Given the description of an element on the screen output the (x, y) to click on. 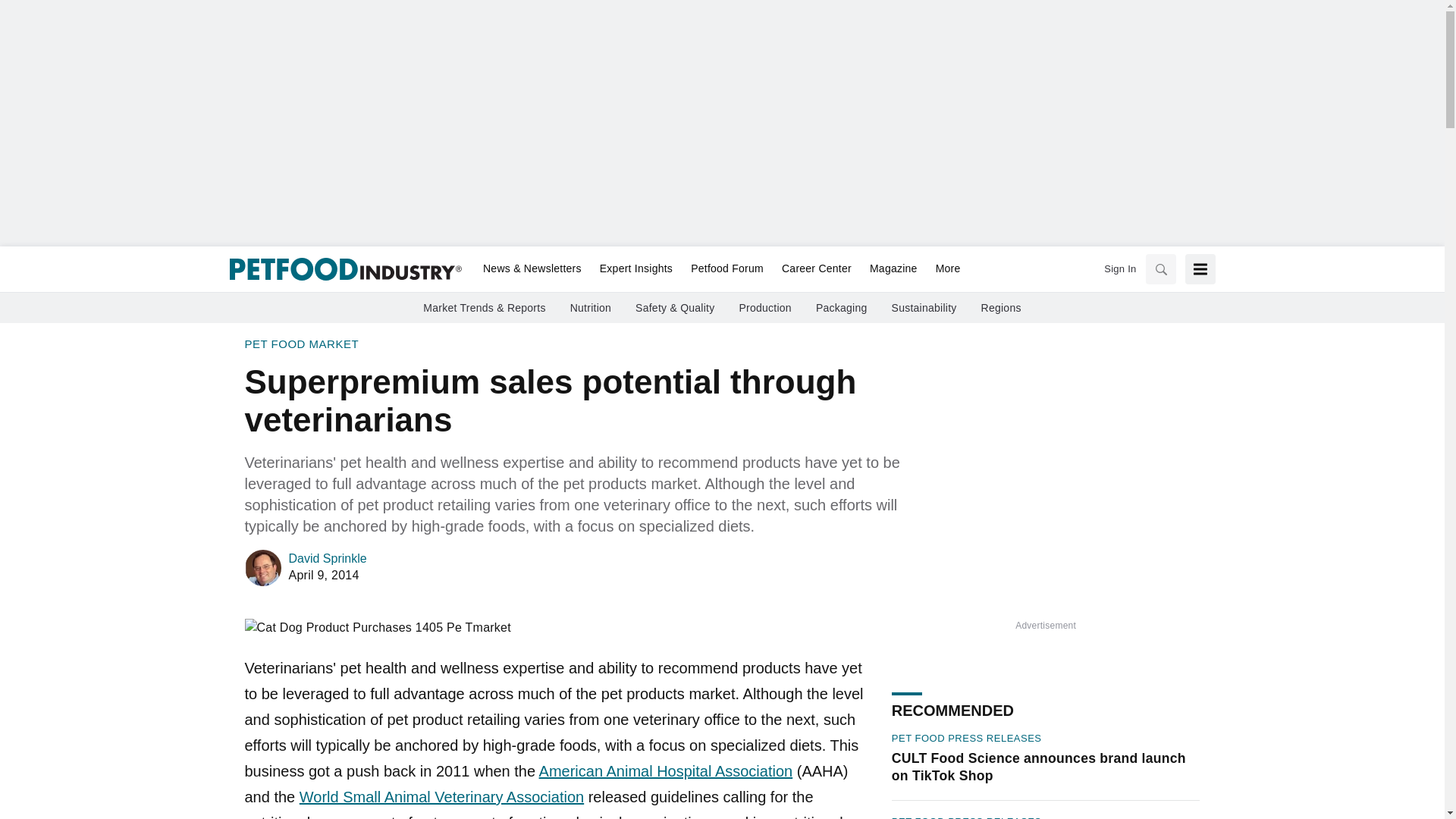
Sign In (1119, 268)
Petfood Forum (727, 269)
Expert Insights (636, 269)
Career Center (816, 269)
More (943, 269)
Pet Food Market (301, 343)
American Animal Hospital Association (665, 770)
World Small Animal Veterinary Association (441, 796)
Packaging (841, 307)
Magazine (893, 269)
